Given the description of an element on the screen output the (x, y) to click on. 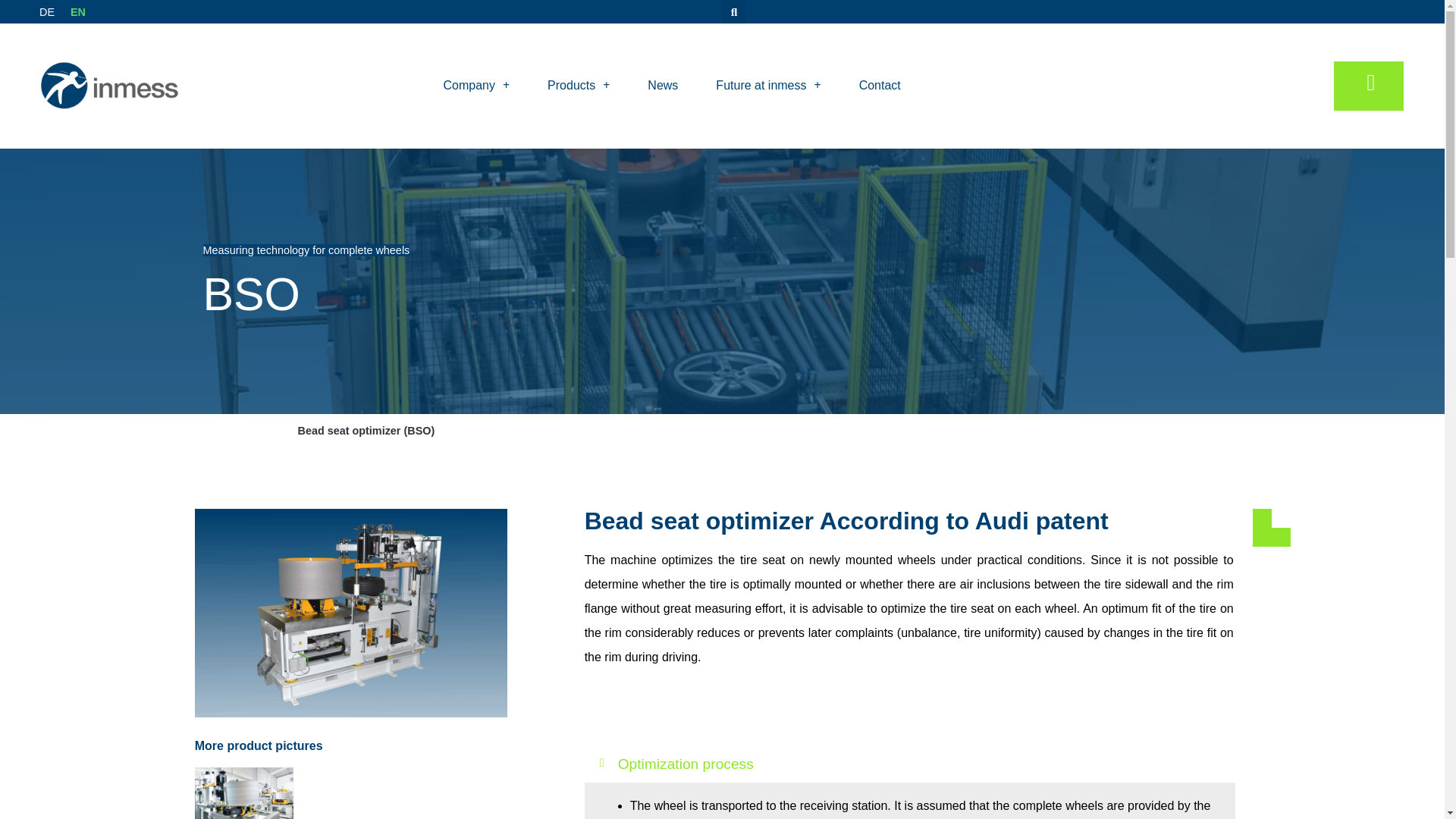
DE (45, 11)
EN (75, 11)
